Given the description of an element on the screen output the (x, y) to click on. 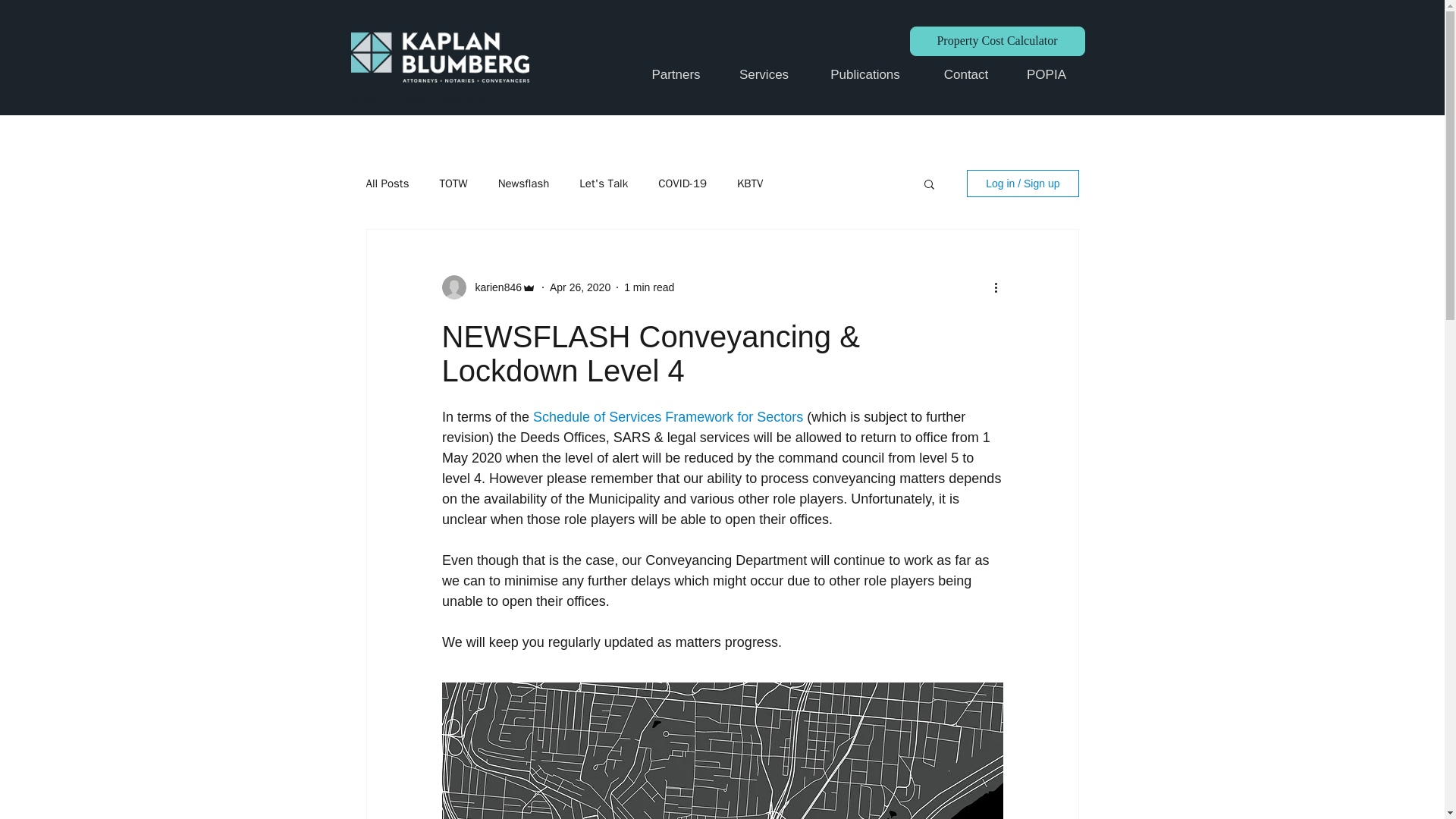
Publications (864, 75)
All Posts (387, 183)
Property Cost Calculator (997, 41)
Partners (675, 75)
POPIA (1046, 75)
TOTW (453, 183)
COVID-19 (682, 183)
karien846 (493, 286)
Newsflash (523, 183)
Schedule of Services Framework for Sectors (667, 417)
Apr 26, 2020 (580, 286)
Services (763, 75)
Let's Talk (603, 183)
KBTV (749, 183)
Contact (966, 75)
